Given the description of an element on the screen output the (x, y) to click on. 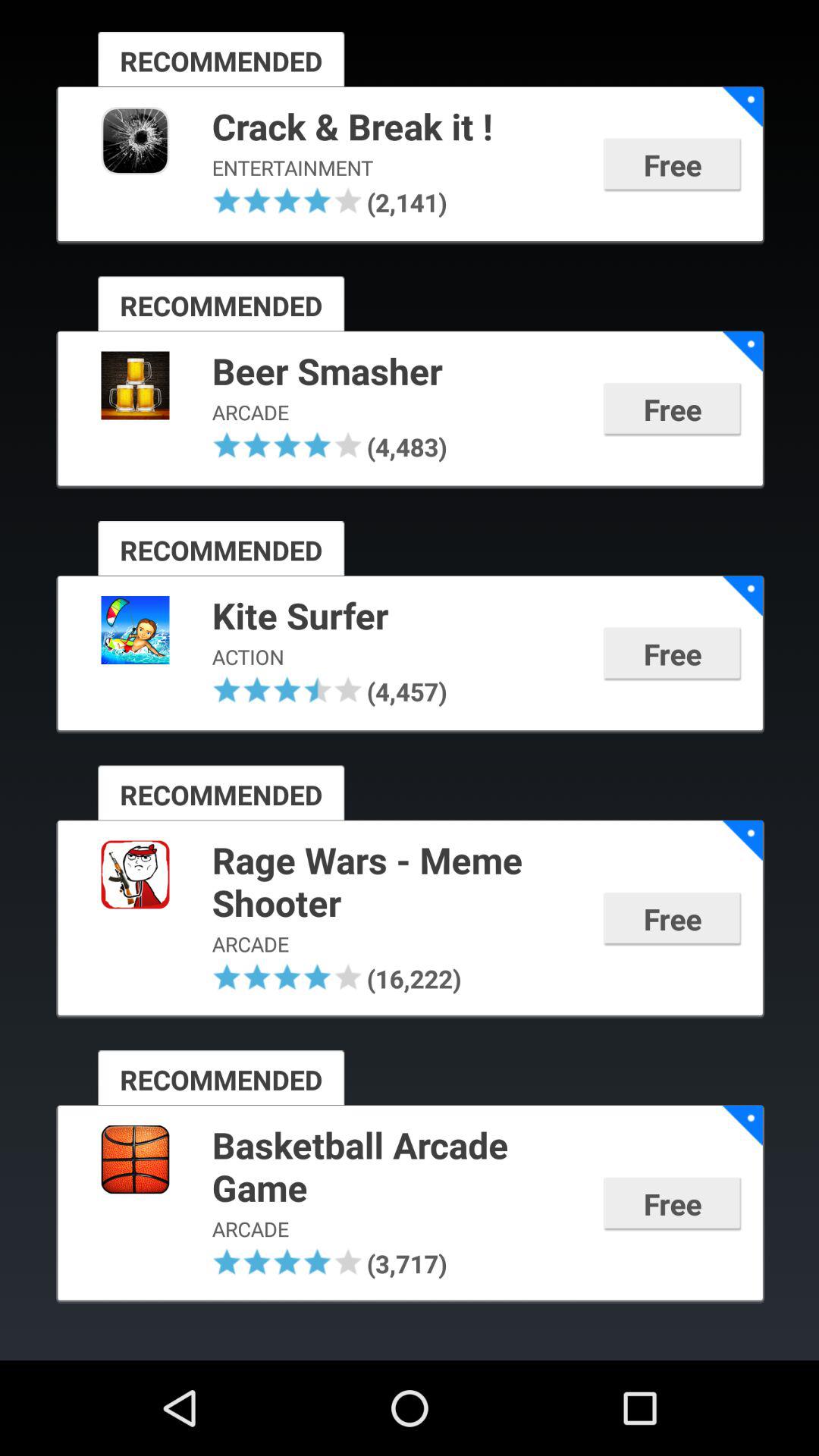
tap app next to the kite surfer (742, 595)
